Given the description of an element on the screen output the (x, y) to click on. 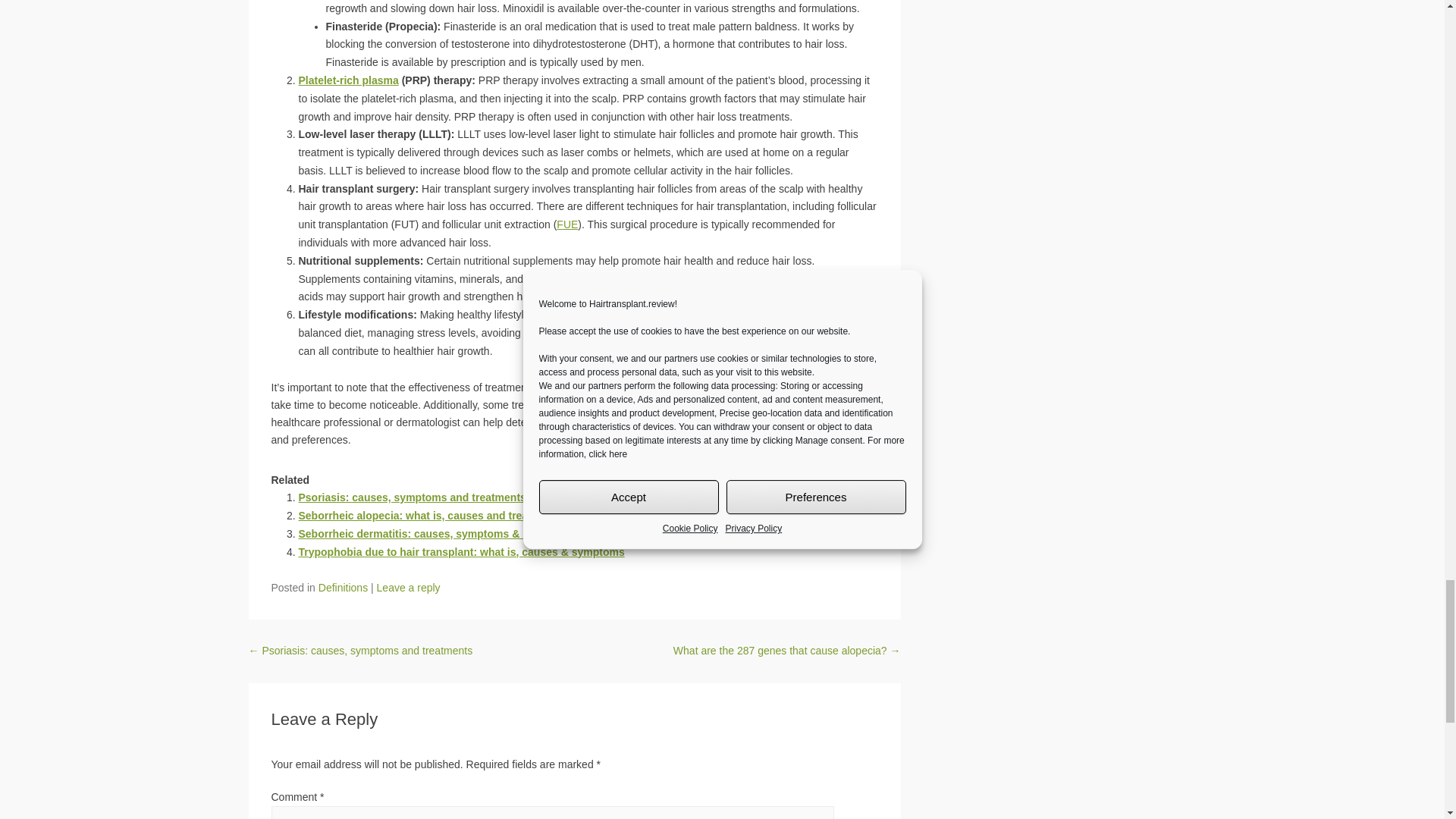
Seborrheic alopecia: what is, causes and treatments (430, 515)
FUE Hair Transplant: What Is It, Procedure And Cost (567, 224)
Psoriasis: causes, symptoms and treatments (411, 497)
